Given the description of an element on the screen output the (x, y) to click on. 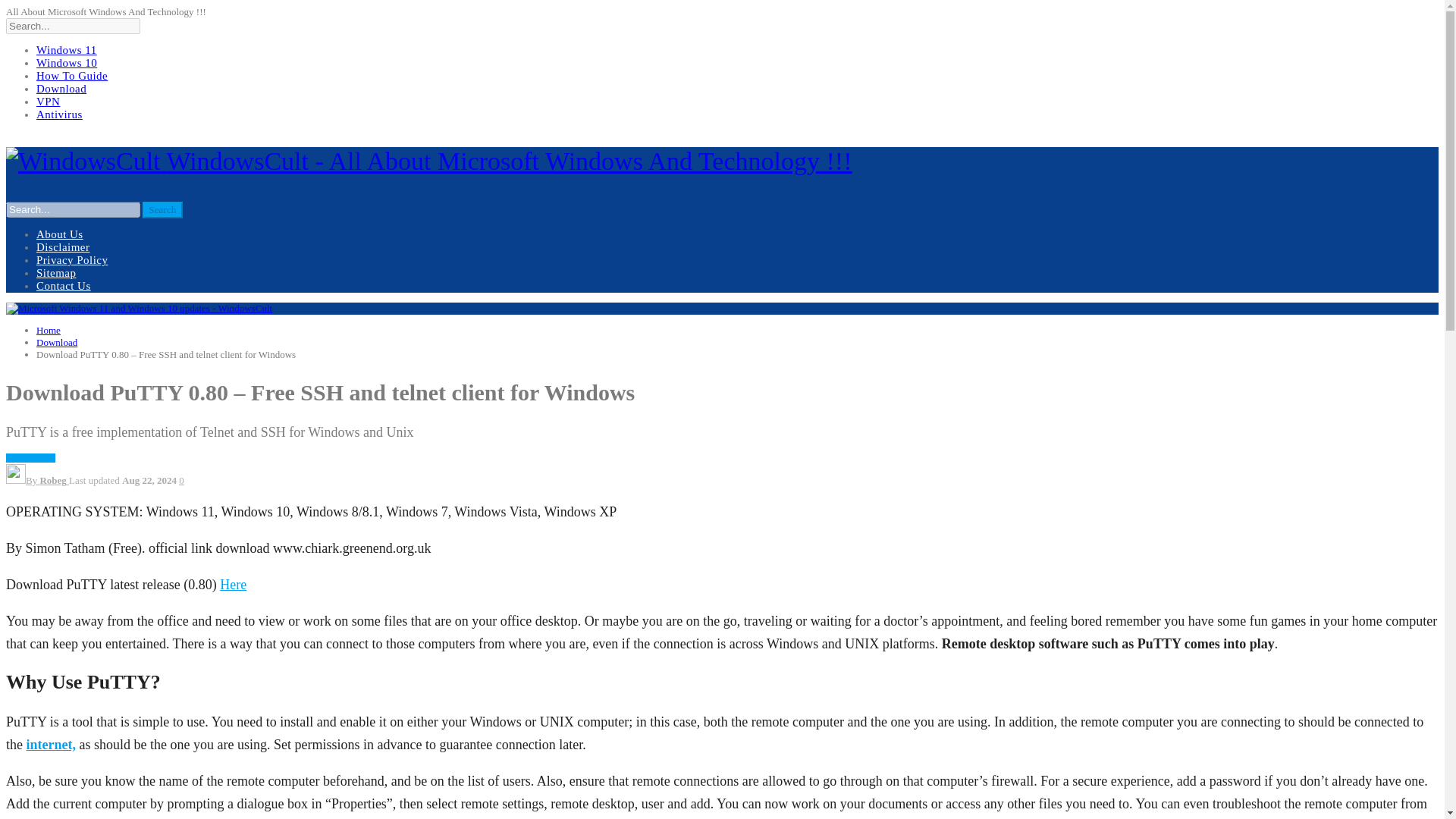
Search (162, 209)
Disclaimer (62, 246)
DOWNLOAD (30, 457)
By Robeg (36, 480)
Search (162, 209)
Contact Us (63, 285)
About Us (59, 234)
Antivirus (59, 114)
Privacy Policy (71, 259)
How To Guide (71, 75)
